Given the description of an element on the screen output the (x, y) to click on. 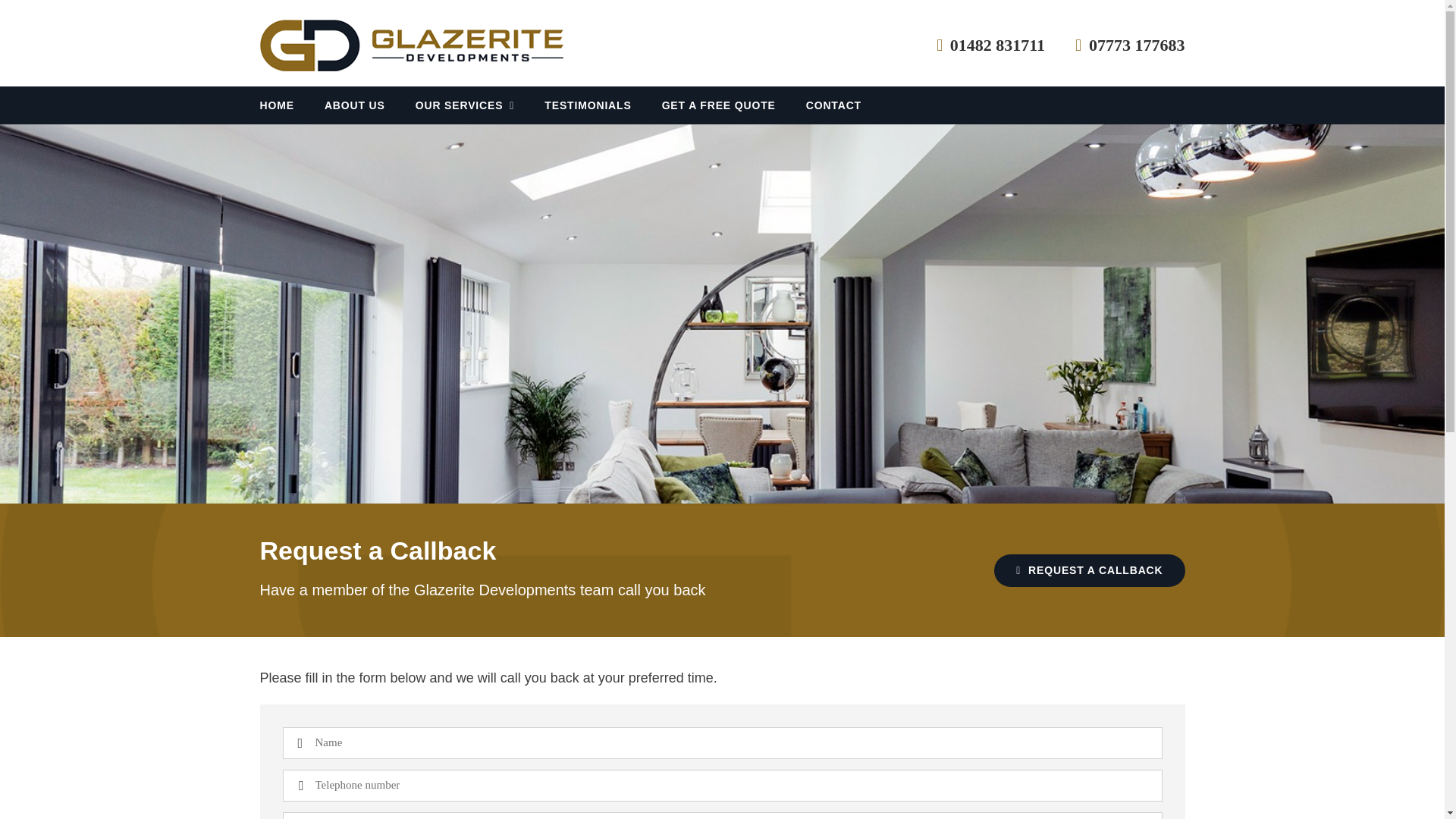
CONTACT (833, 105)
GET A FREE QUOTE (719, 105)
TESTIMONIALS (587, 105)
07773 177683 (1115, 44)
OUR SERVICES (464, 105)
HOME (276, 105)
ABOUT US (354, 105)
01482 831711 (975, 44)
